Given the description of an element on the screen output the (x, y) to click on. 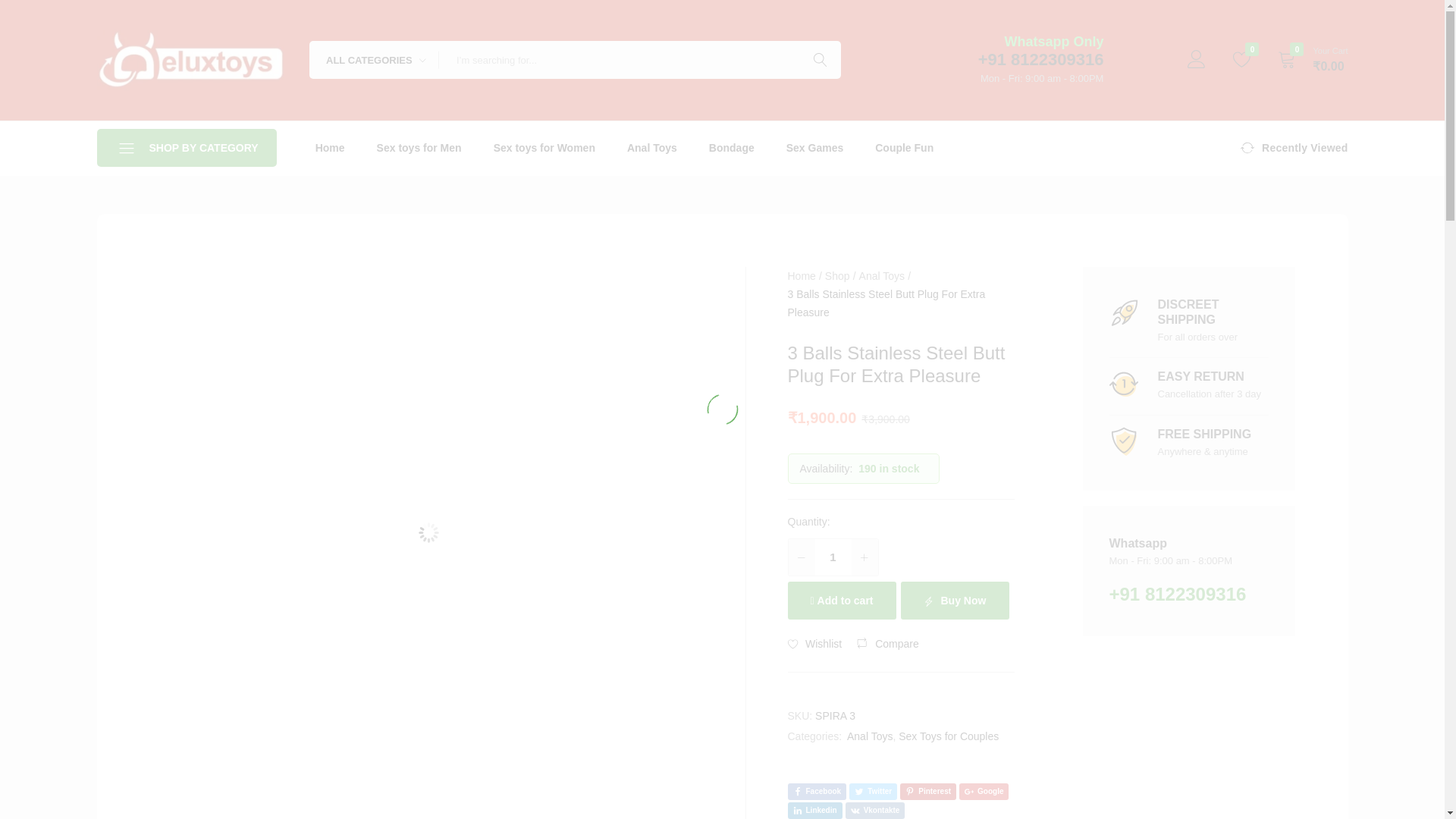
homepage-new-image-box-img-2 (1123, 383)
1 (833, 556)
Couple Fun (904, 147)
3 Balls Stainless Steel Butt Plug For Extra Pleasure (872, 791)
3 Balls Stainless Steel Butt Plug For Extra Pleasure (814, 810)
Shop (837, 275)
homepage-new-image-box-img-3 (1123, 441)
Sex toys for Women (544, 147)
0 (1242, 59)
homepage-new-image-box-img-1 (1123, 311)
3 Balls Stainless Steel Butt Plug For Extra Pleasure (816, 791)
Anal Toys (652, 147)
Sex Games (815, 147)
Home (801, 275)
Sex toys for Men (419, 147)
